Given the description of an element on the screen output the (x, y) to click on. 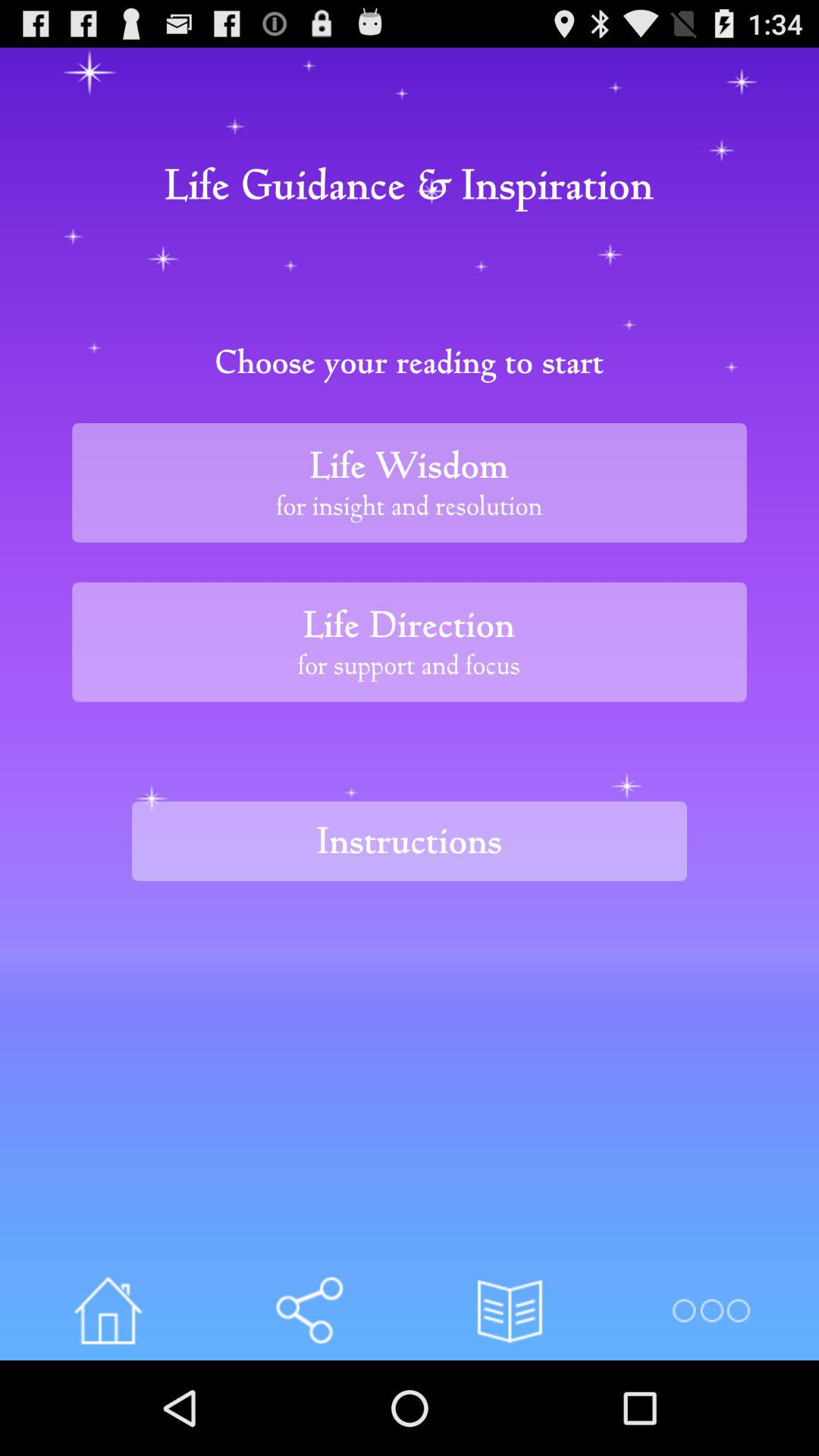
choose icon below the instructions icon (107, 1310)
